Given the description of an element on the screen output the (x, y) to click on. 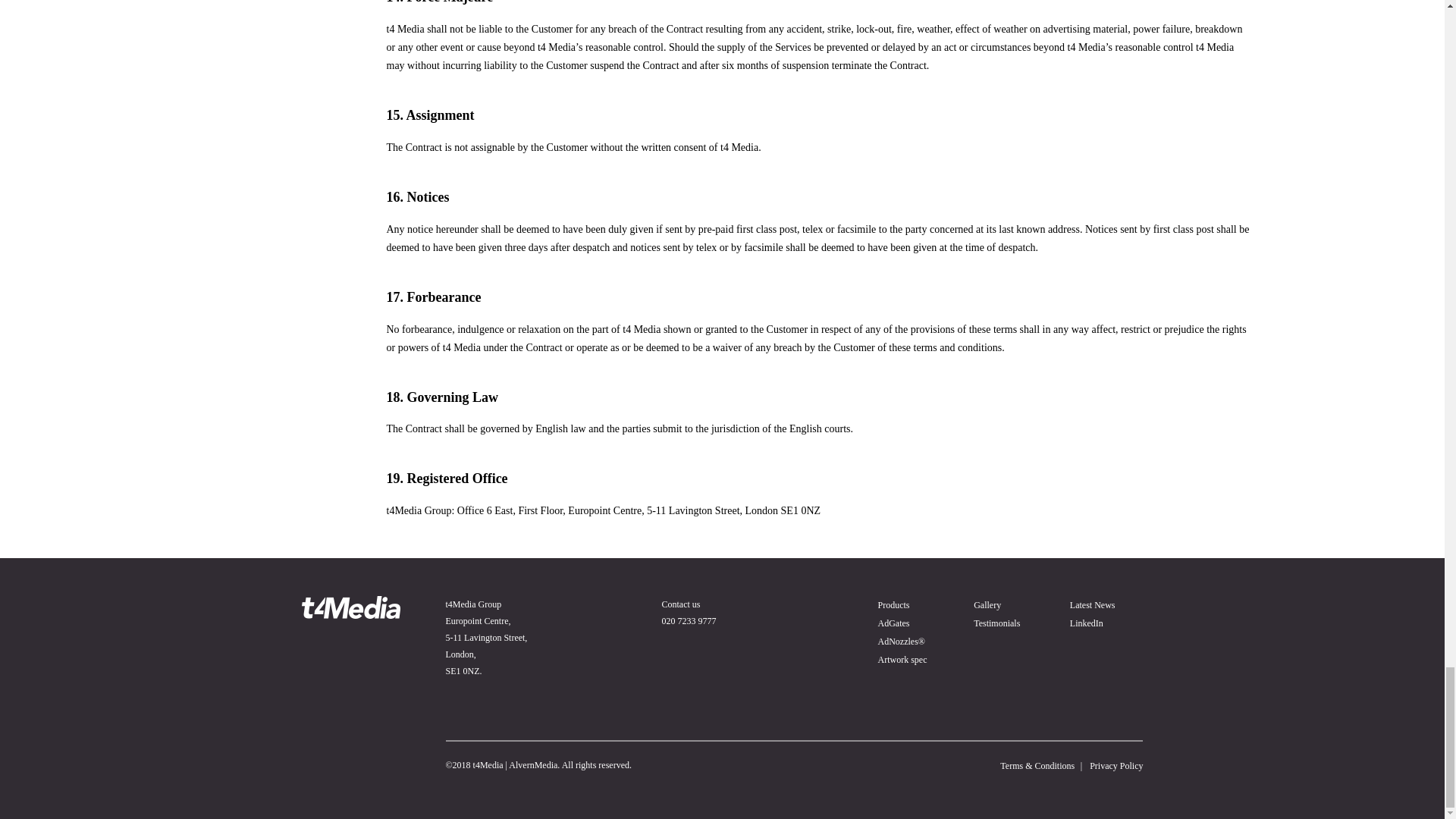
AdGates (893, 623)
Latest News (1092, 604)
Products (893, 604)
Artwork spec (902, 659)
LinkedIn (1086, 623)
Testimonials (997, 623)
Privacy Policy (1115, 765)
Gallery (987, 604)
